Given the description of an element on the screen output the (x, y) to click on. 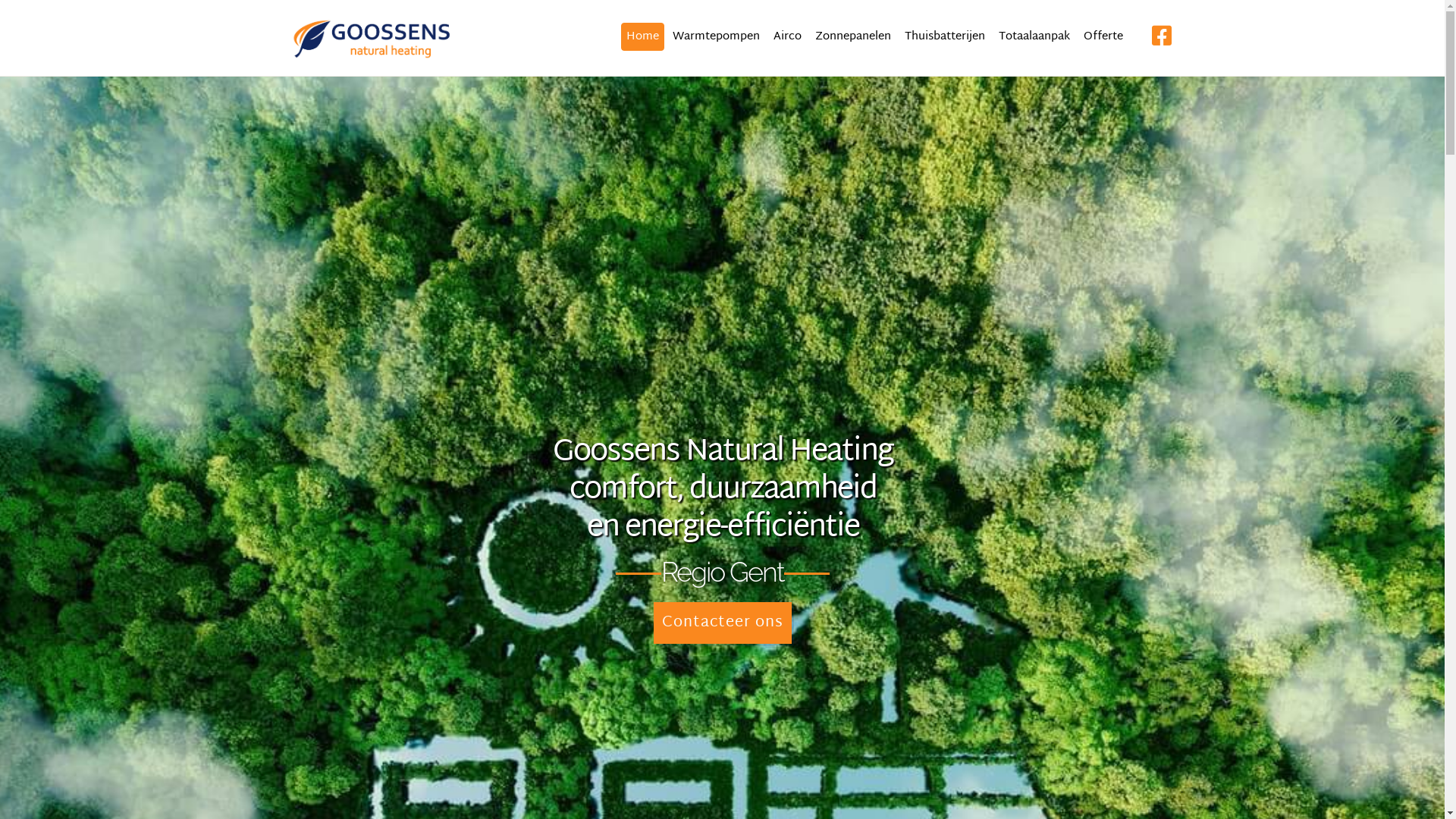
Offerte Element type: text (1103, 36)
Thuisbatterijen Element type: text (944, 36)
Totaalaanpak Element type: text (1034, 36)
Zonnepanelen Element type: text (852, 36)
Warmtepompen Element type: text (716, 36)
Airco Element type: text (786, 36)
Contacteer ons Element type: text (722, 622)
Home Element type: text (641, 36)
